Given the description of an element on the screen output the (x, y) to click on. 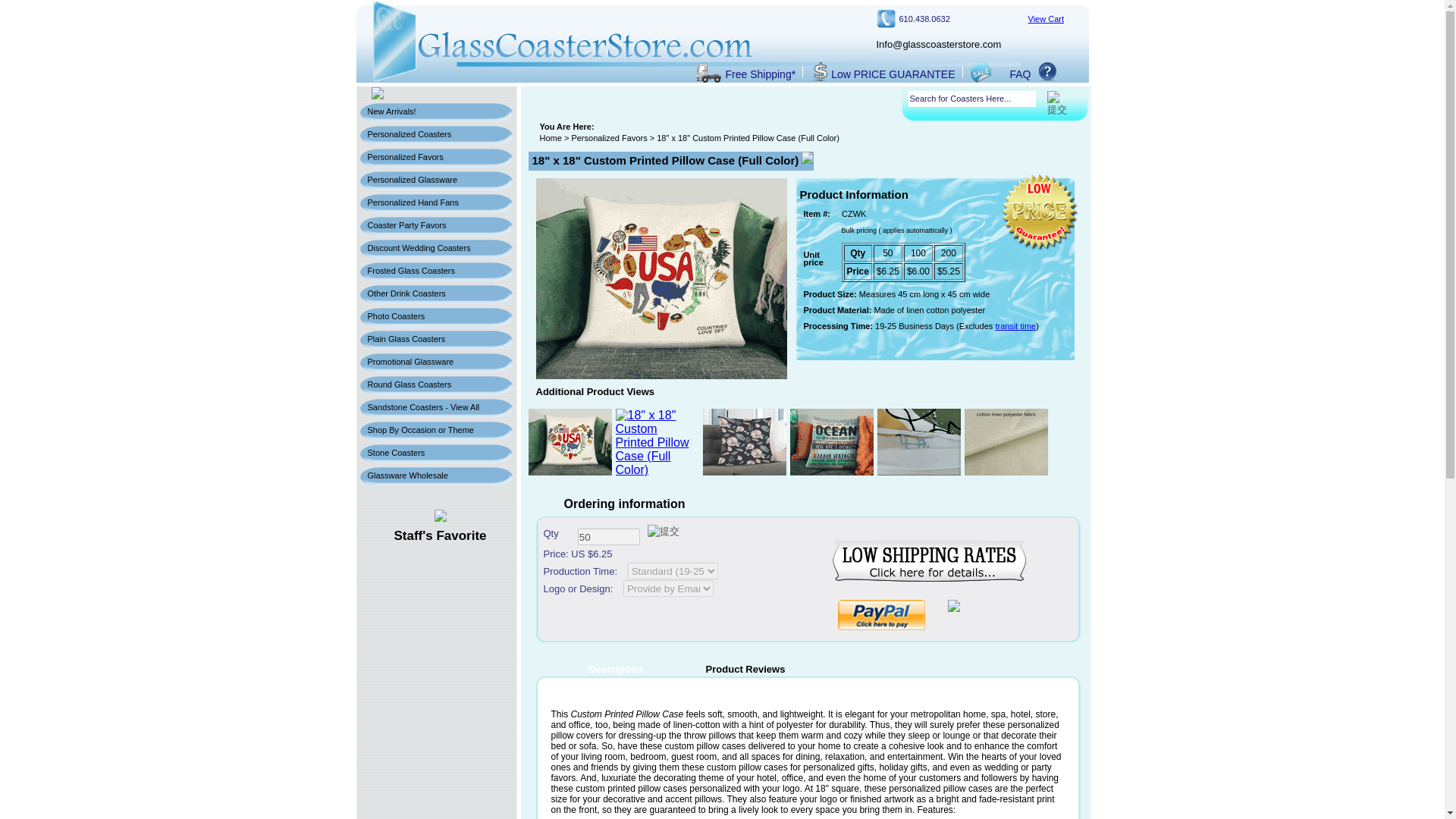
View Cart (1045, 18)
Shop By Occasion or Theme (438, 432)
Other Drink Coasters (438, 296)
Frosted Glass Coasters (438, 273)
Personalized Favors (438, 159)
Frosted Glass Coasters (438, 273)
Search for Coasters Here... (971, 98)
Personalized Favors (608, 137)
transit time (1014, 325)
Stone Coasters (438, 455)
FAQ (1020, 73)
Personalized Glassware (438, 182)
Stone Coasters (438, 455)
Photo Coasters (438, 318)
Photo Coasters (438, 318)
